Given the description of an element on the screen output the (x, y) to click on. 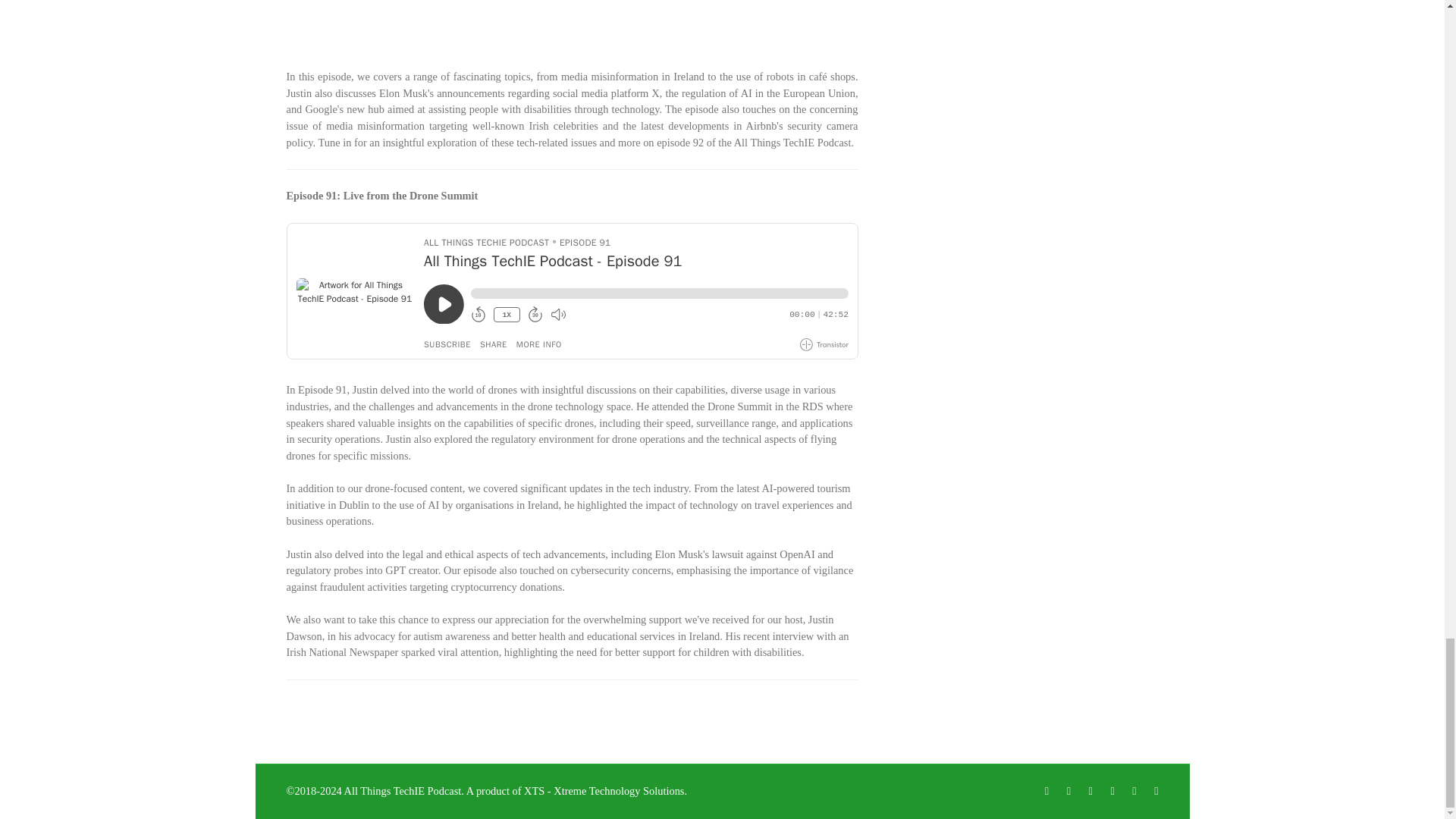
Twitter (1111, 791)
Google Podcasts (1046, 791)
YouTube (1133, 791)
rss feed (1156, 791)
Apple Podcasts (1090, 791)
Spotify (1068, 791)
